Given the description of an element on the screen output the (x, y) to click on. 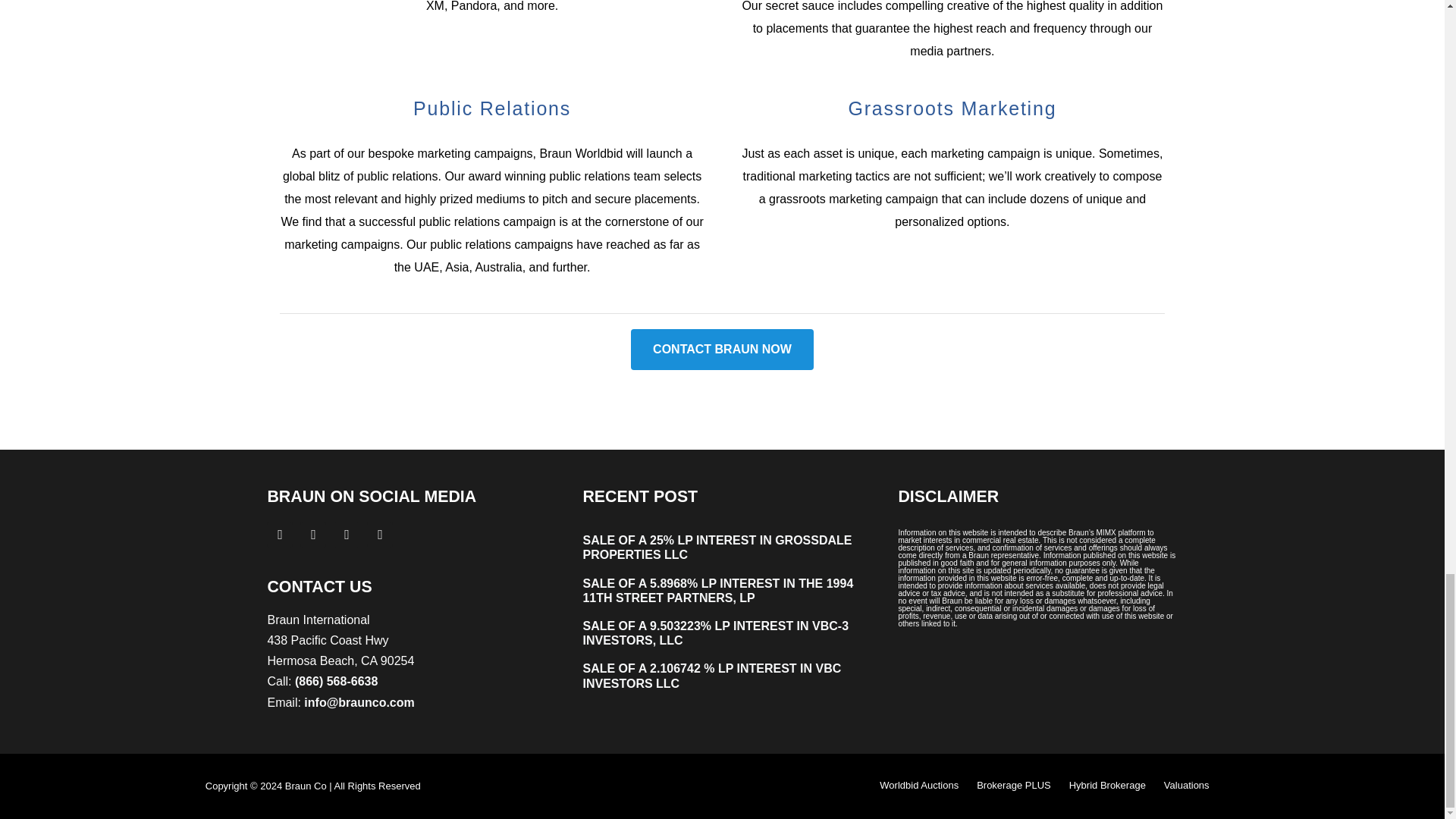
Hybrid Brokerage (1106, 786)
LinkedIn (346, 534)
X (312, 534)
Worldbid Auctions (918, 786)
CONTACT BRAUN NOW (721, 349)
Facebook (279, 534)
Valuations (1186, 786)
Brokerage PLUS (1013, 786)
Vimeo (379, 534)
